Given the description of an element on the screen output the (x, y) to click on. 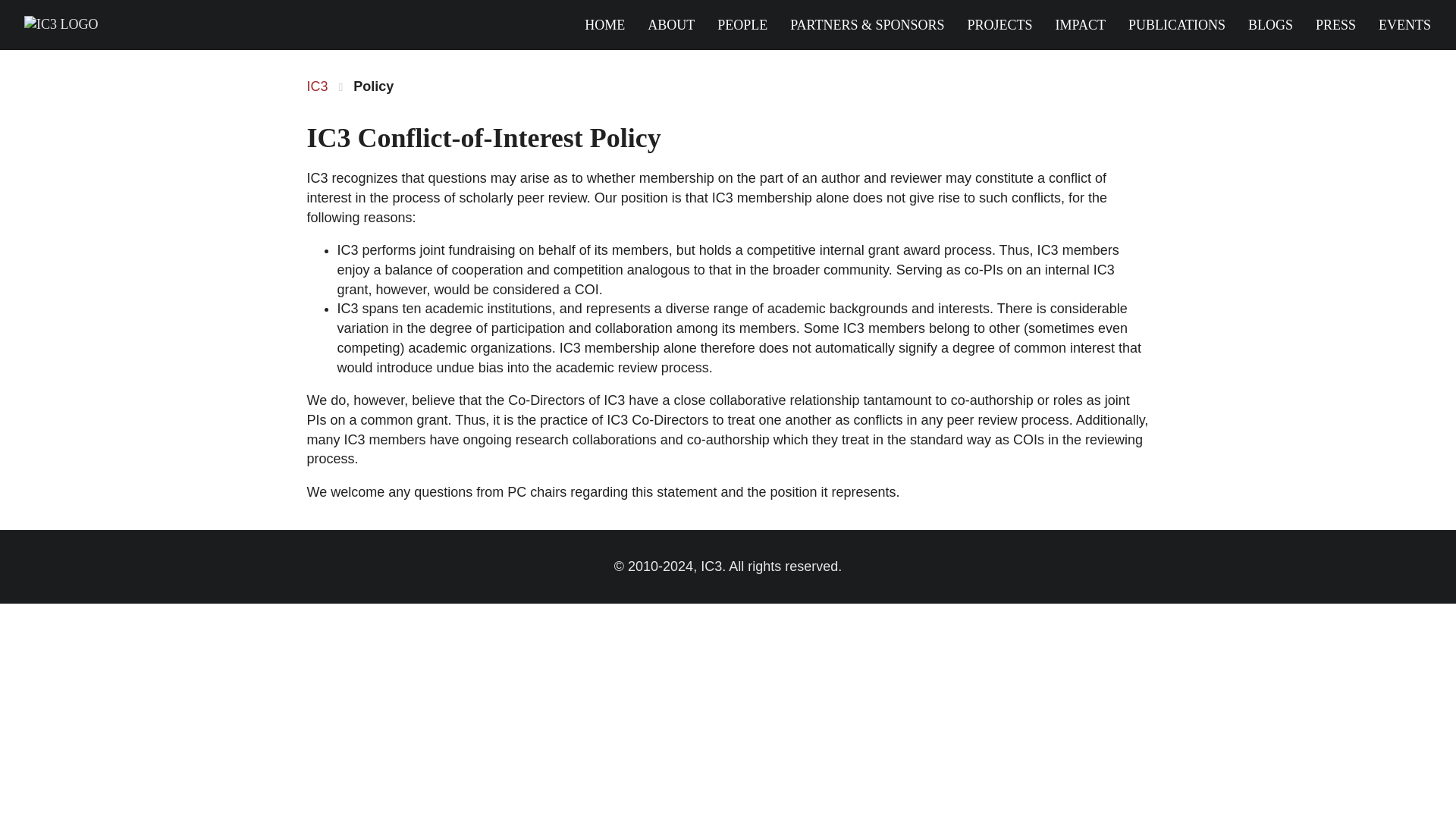
IC3 (316, 86)
PEOPLE (742, 24)
BLOGS (1270, 24)
EVENTS (1404, 24)
HOME (603, 24)
PUBLICATIONS (1177, 24)
PROJECTS (1000, 24)
PRESS (1334, 24)
IMPACT (1080, 24)
ABOUT (670, 24)
